Given the description of an element on the screen output the (x, y) to click on. 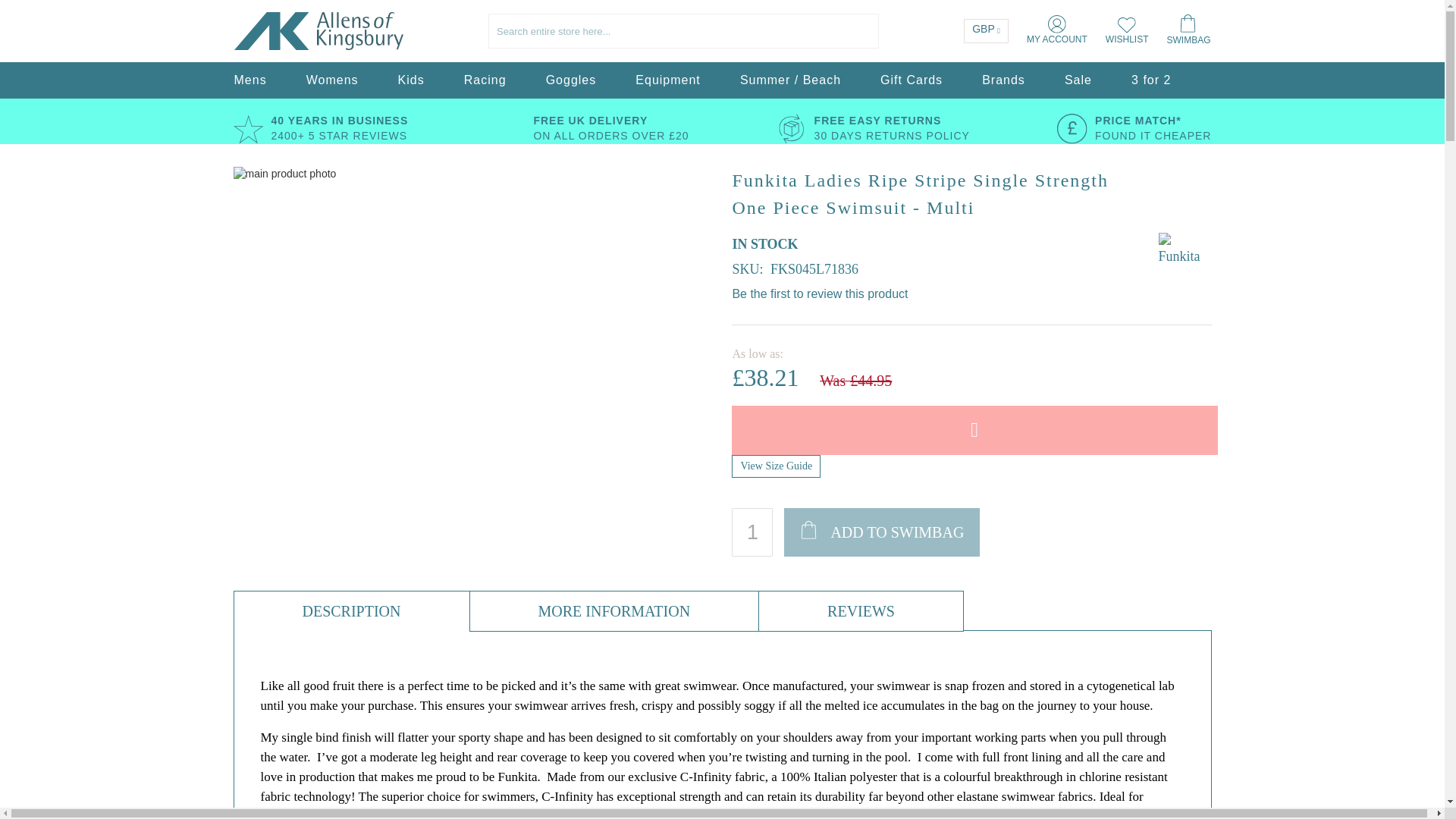
Allens Swimwear Logo (270, 30)
Allens Swimwear Logo (317, 31)
Mens (249, 80)
Mens (249, 80)
